Given the description of an element on the screen output the (x, y) to click on. 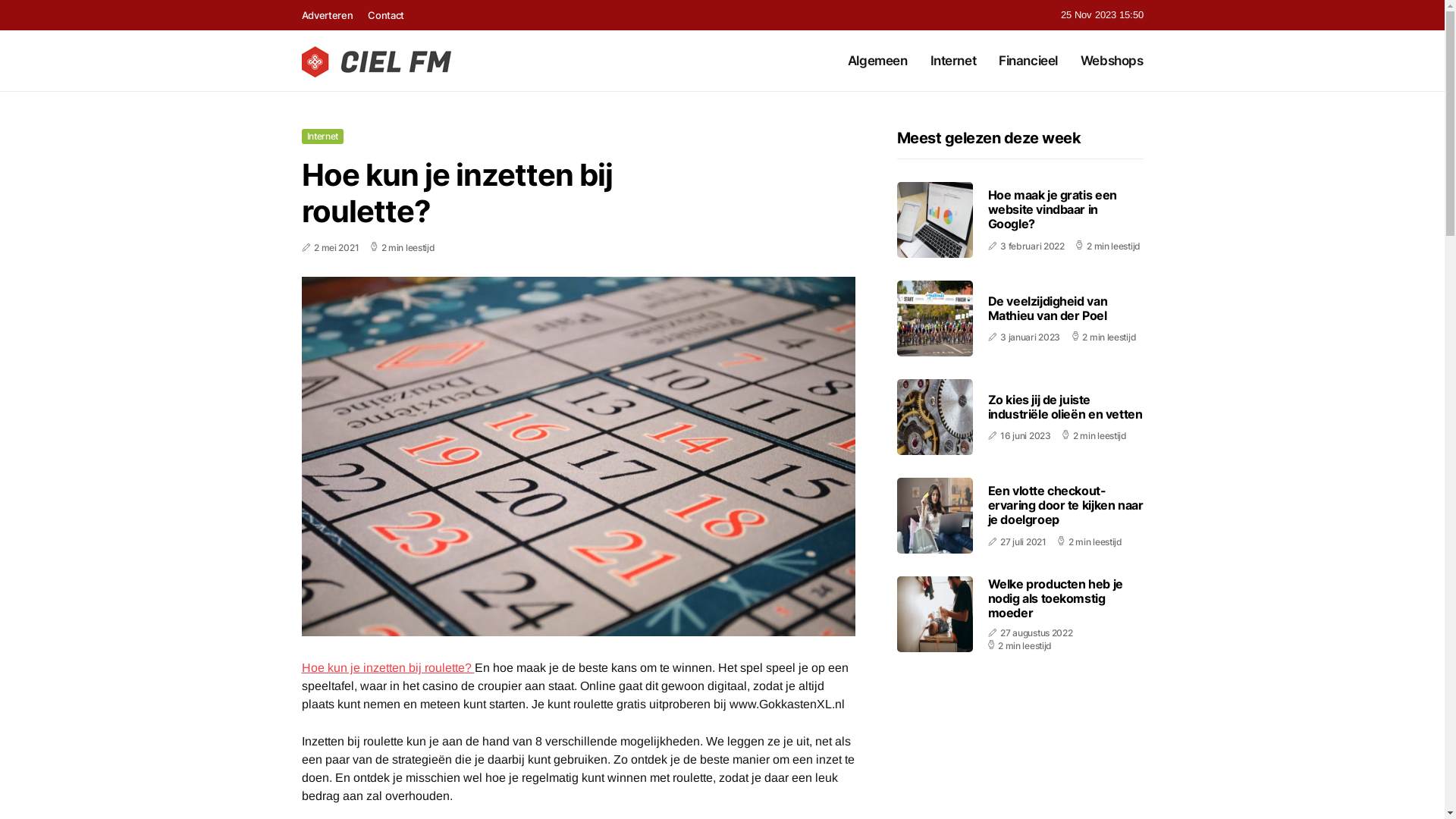
Algemeen Element type: text (877, 60)
Financieel Element type: text (1027, 60)
Webshops Element type: text (1111, 60)
Hoe kun je inzetten bij roulette? Element type: text (387, 667)
Hoe maak je gratis een website vindbaar in Google? Element type: text (1051, 209)
Adverteren Element type: text (327, 15)
Internet Element type: text (322, 136)
Contact Element type: text (385, 15)
De veelzijdigheid van Mathieu van der Poel Element type: text (1047, 308)
Welke producten heb je nodig als toekomstig moeder Element type: text (1054, 598)
Internet Element type: text (953, 60)
